Given the description of an element on the screen output the (x, y) to click on. 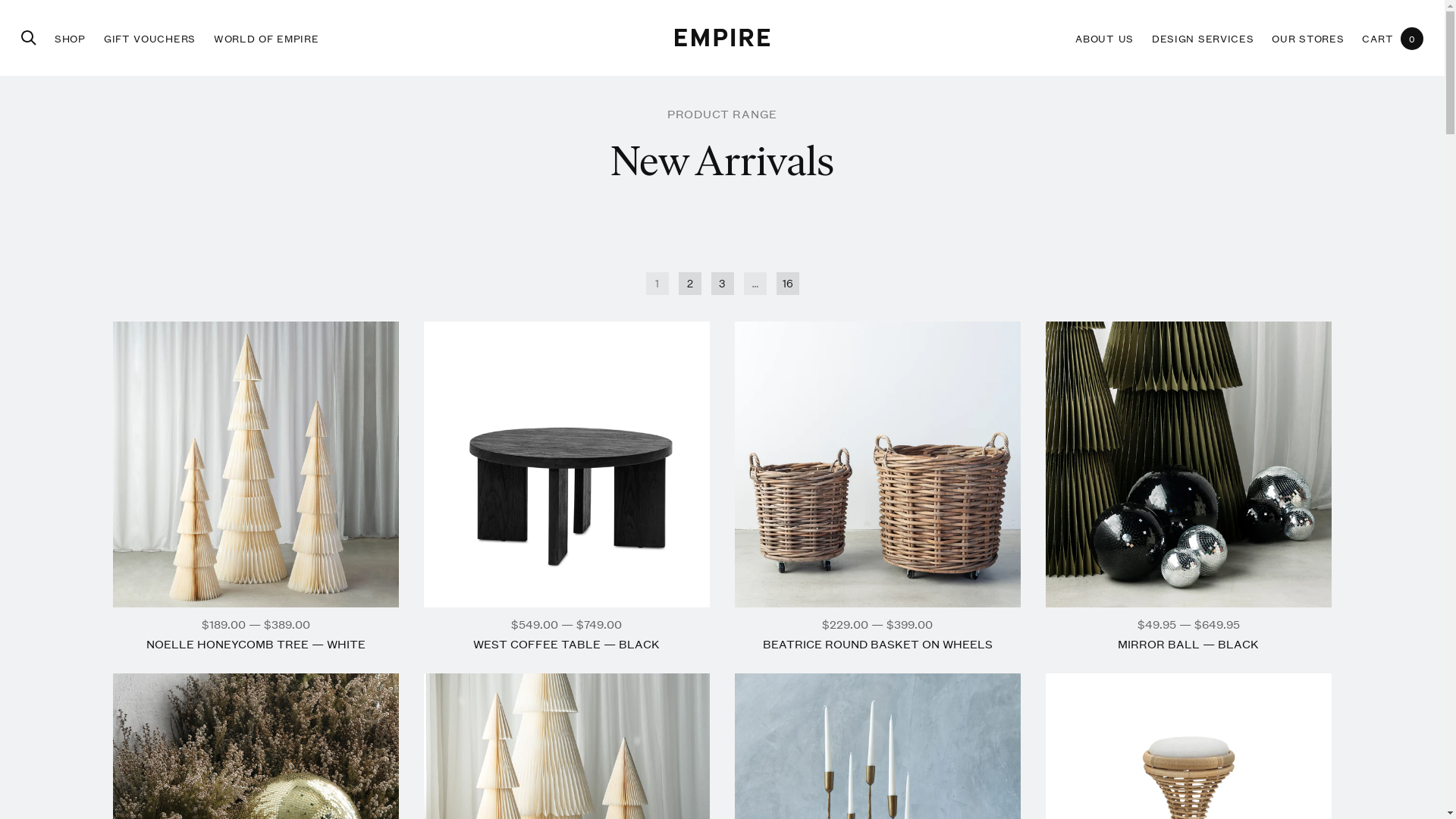
SHOP Element type: text (69, 37)
OUR STORES Element type: text (1307, 37)
GIFT VOUCHERS Element type: text (149, 37)
Search Element type: hover (28, 37)
3 Element type: text (722, 283)
Empire Home Element type: hover (721, 37)
DESIGN SERVICES Element type: text (1202, 37)
2 Element type: text (688, 283)
ABOUT US Element type: text (1104, 37)
CART 0 Element type: text (1392, 37)
WORLD OF EMPIRE Element type: text (266, 37)
16 Element type: text (787, 283)
